Given the description of an element on the screen output the (x, y) to click on. 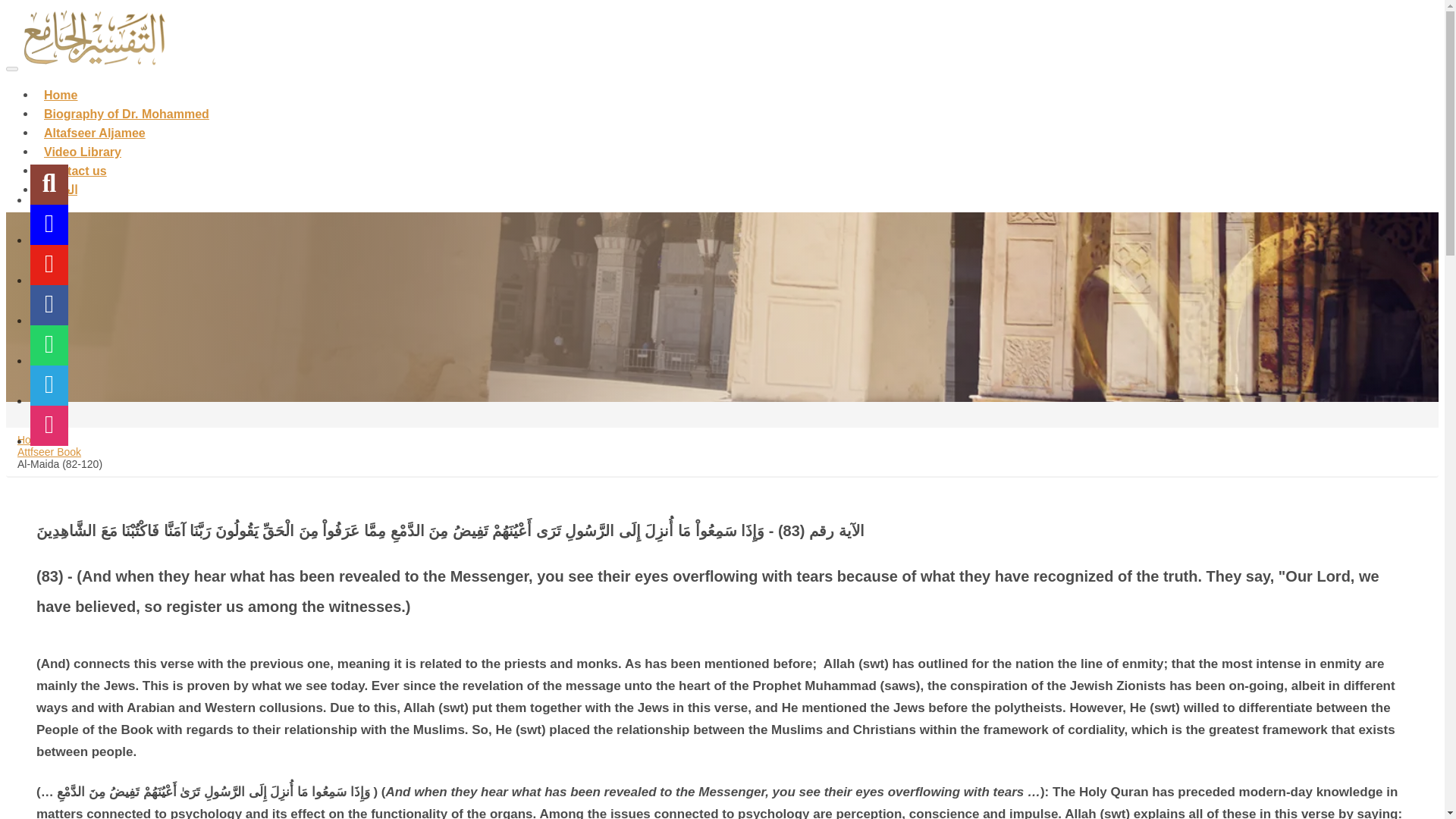
Home (31, 439)
Biography of Dr. Mohammed (126, 103)
Home (60, 85)
Contact us (75, 161)
Biography of Dr. Mohammed (126, 103)
Home (60, 85)
Attfseer Book (49, 451)
Altafseer Aljamee (94, 123)
Video Library (82, 142)
Video Library (82, 142)
Contact us (75, 161)
Toggle navigation (11, 68)
Altafseer Aljamee (94, 123)
